Given the description of an element on the screen output the (x, y) to click on. 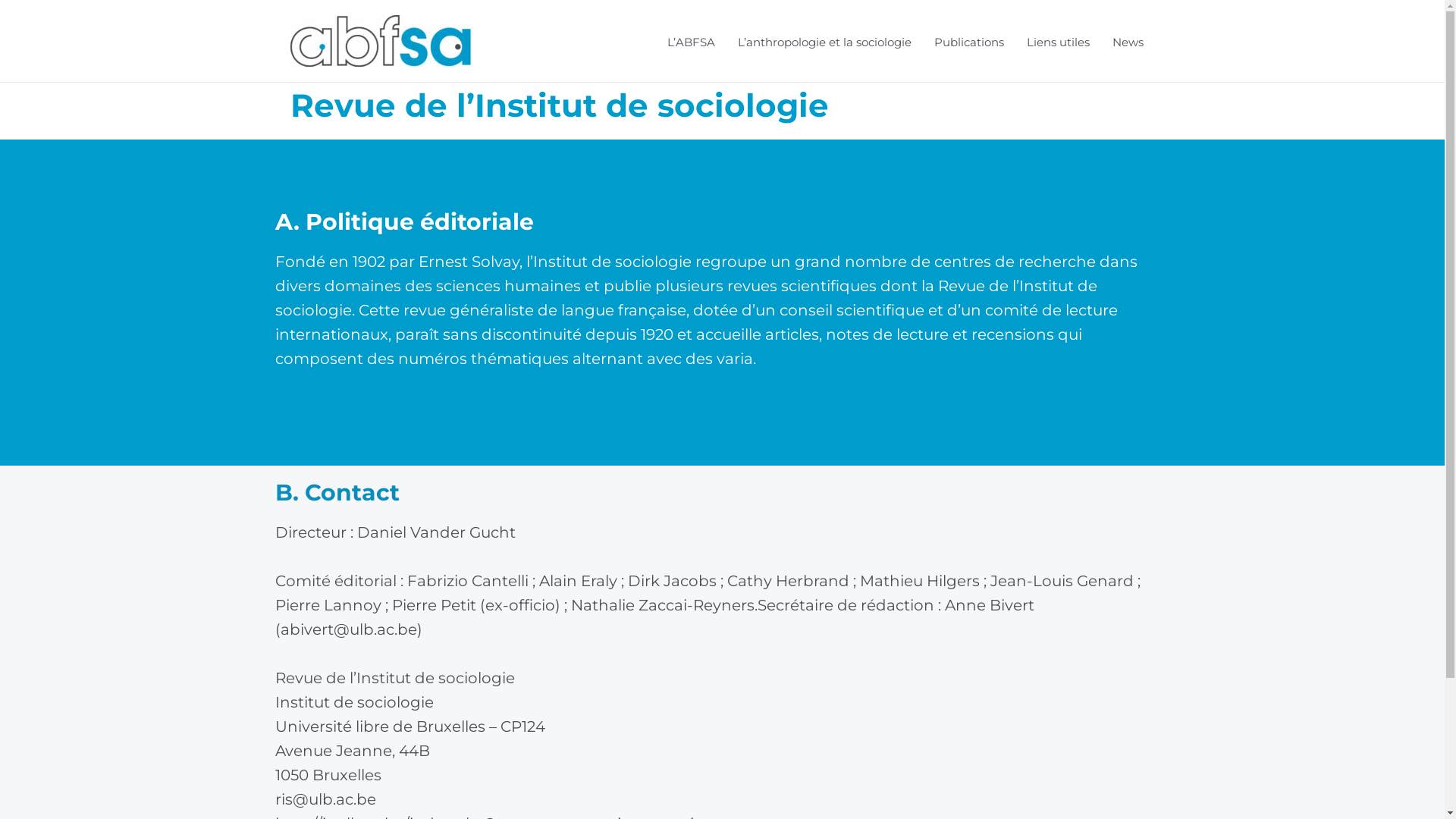
ris@ulb.ac.be Element type: text (324, 799)
Publications Element type: text (968, 42)
Liens utiles Element type: text (1057, 42)
News Element type: text (1127, 42)
